Given the description of an element on the screen output the (x, y) to click on. 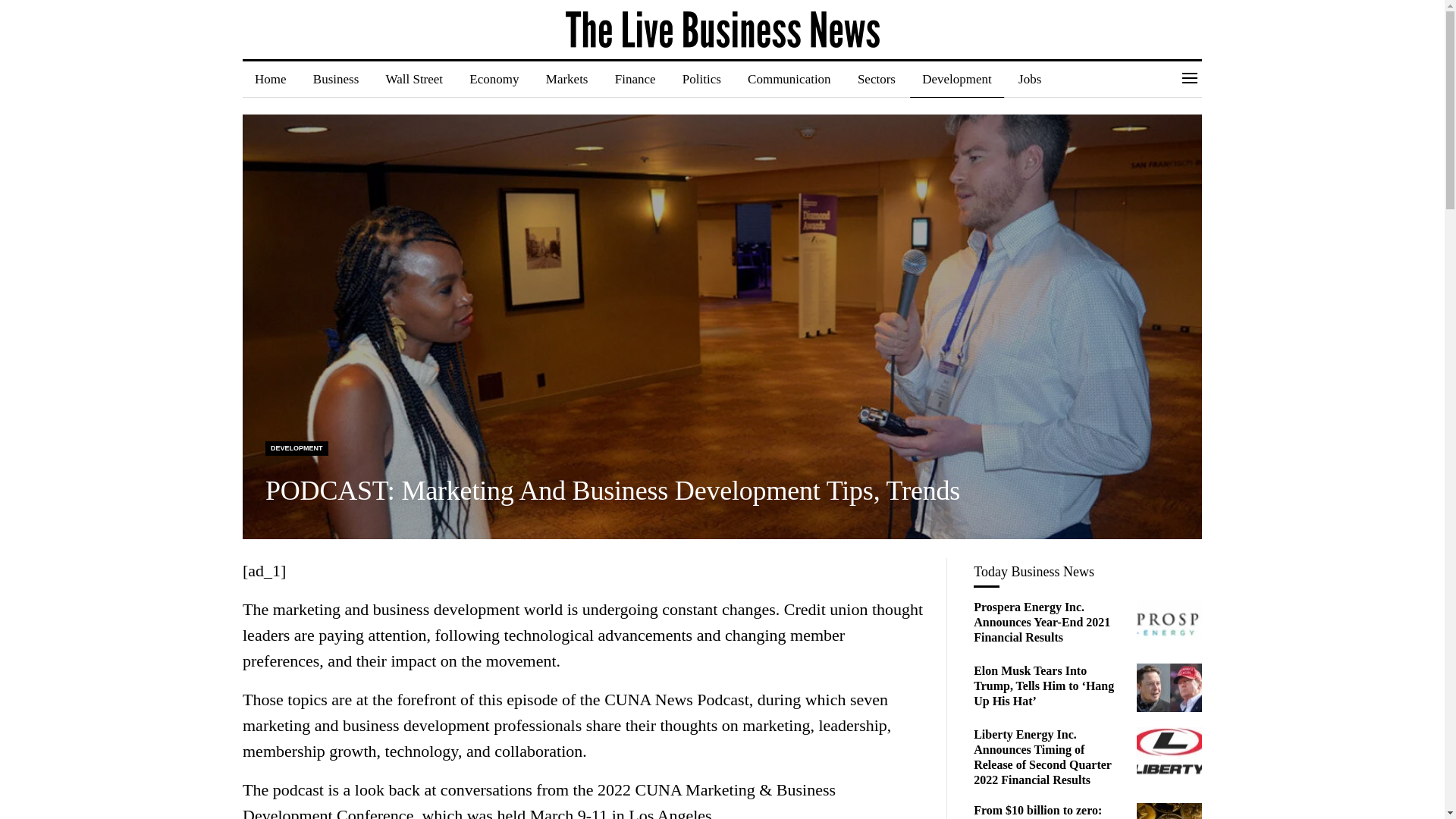
Sectors (876, 79)
Jobs (1029, 79)
Communication (789, 79)
Wall Street (414, 79)
Business (336, 79)
Markets (566, 79)
Finance (635, 79)
Economy (494, 79)
DEVELOPMENT (296, 448)
Development (957, 79)
Politics (701, 79)
Home (270, 79)
CUNA News Podcast (676, 699)
